Given the description of an element on the screen output the (x, y) to click on. 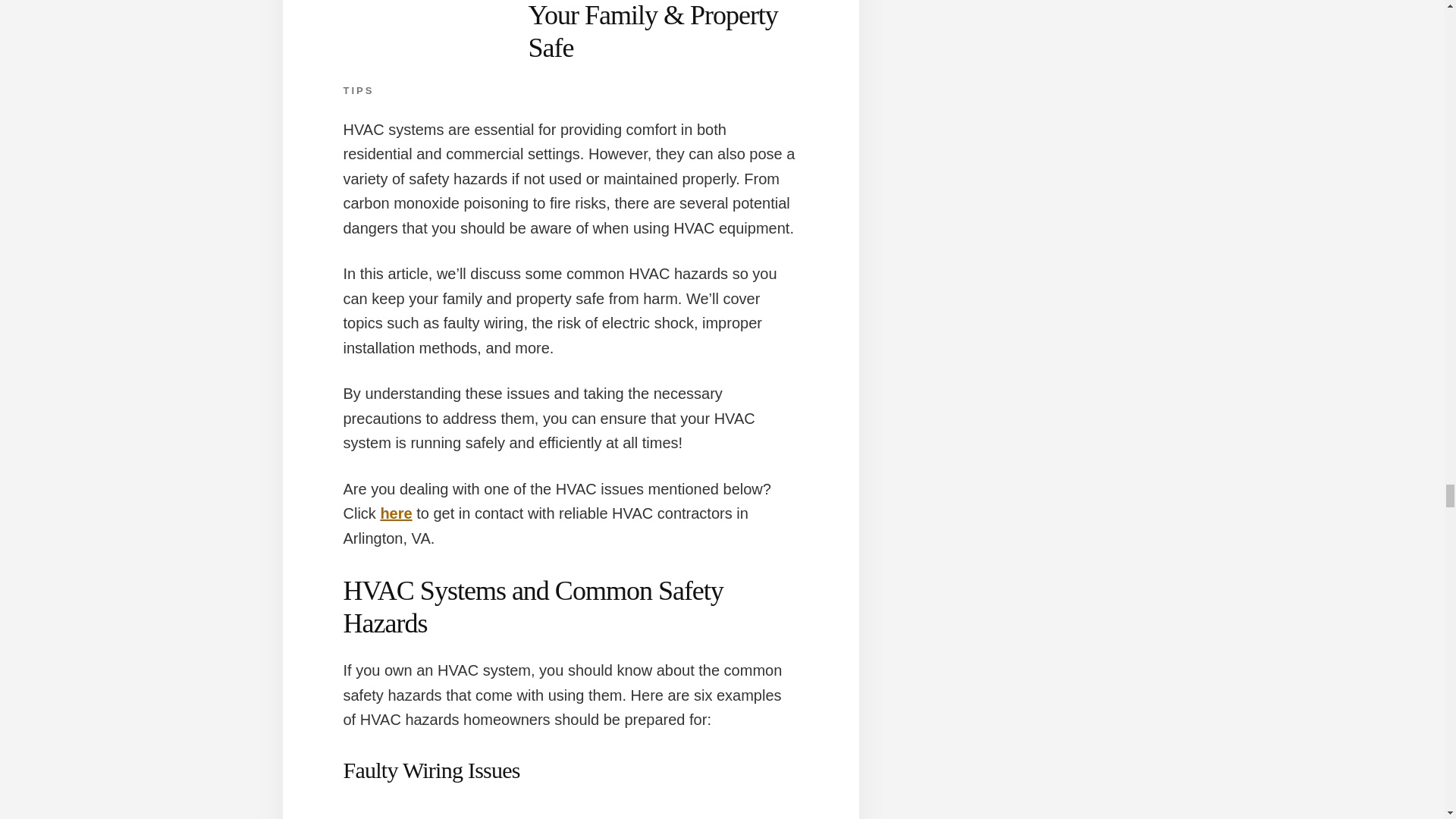
TIPS (358, 90)
here (396, 513)
